Given the description of an element on the screen output the (x, y) to click on. 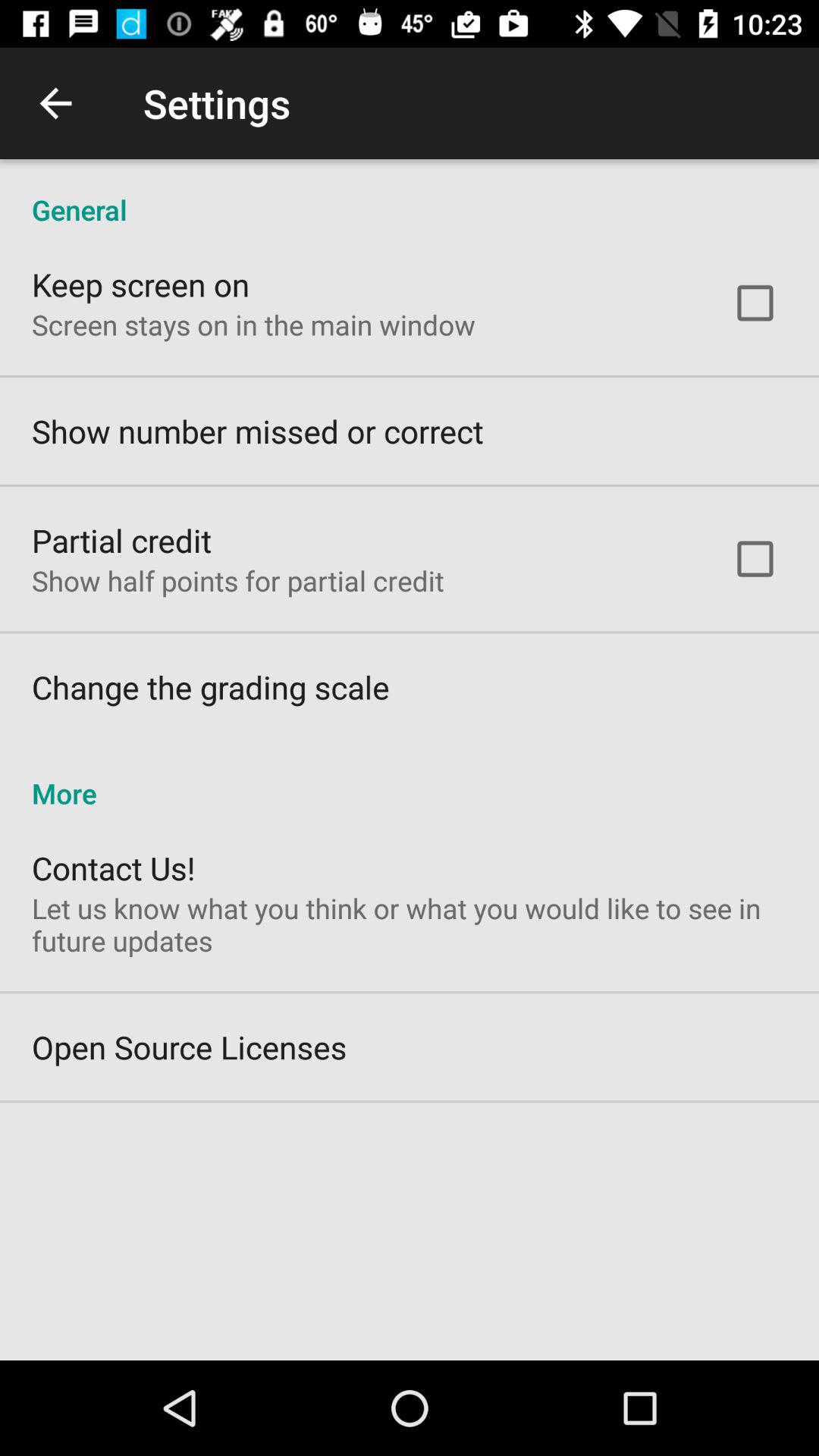
launch the item below the screen stays on item (257, 430)
